Given the description of an element on the screen output the (x, y) to click on. 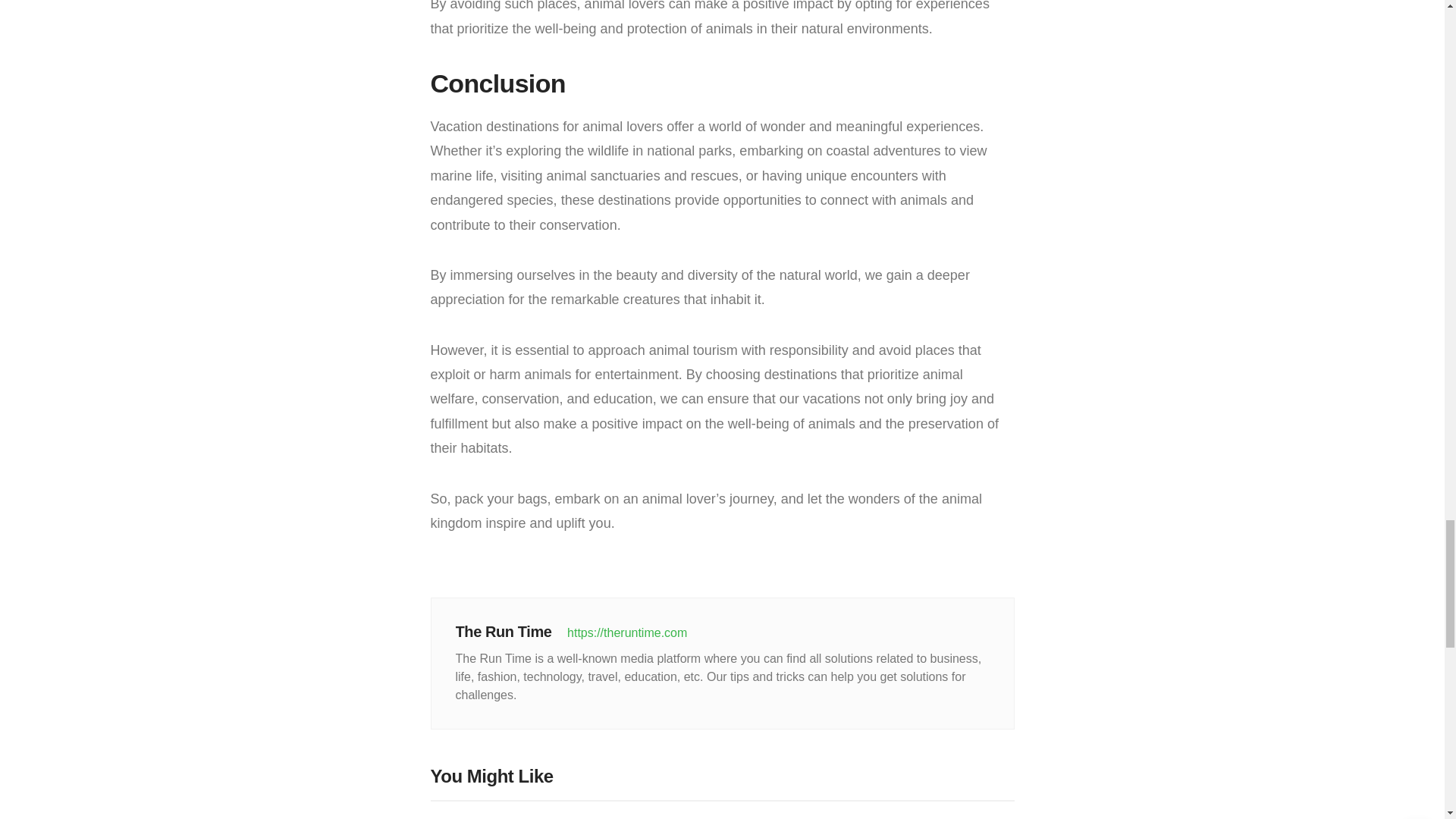
The Run Time (505, 631)
